Given the description of an element on the screen output the (x, y) to click on. 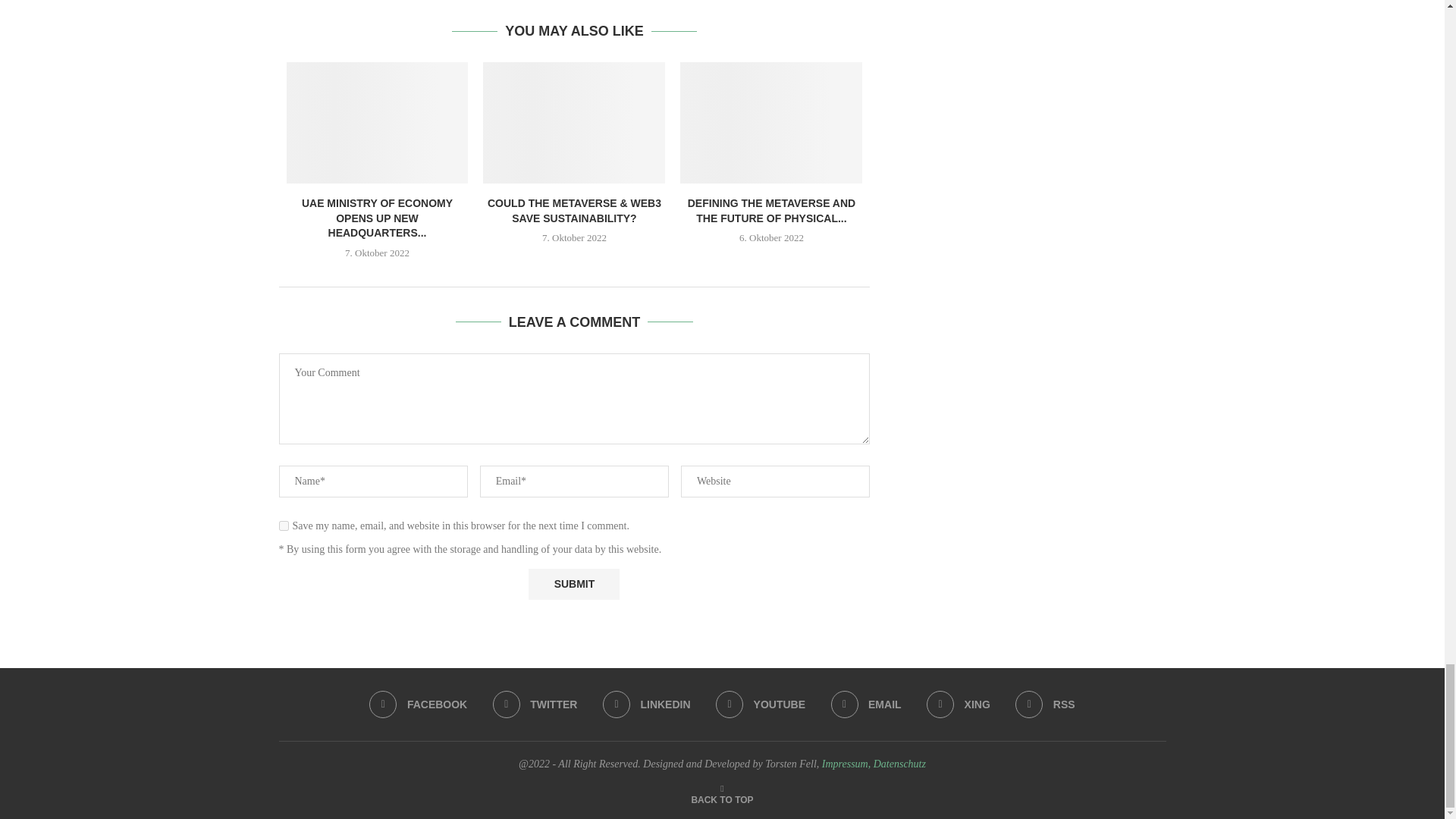
yes (283, 525)
Submit (574, 583)
